Given the description of an element on the screen output the (x, y) to click on. 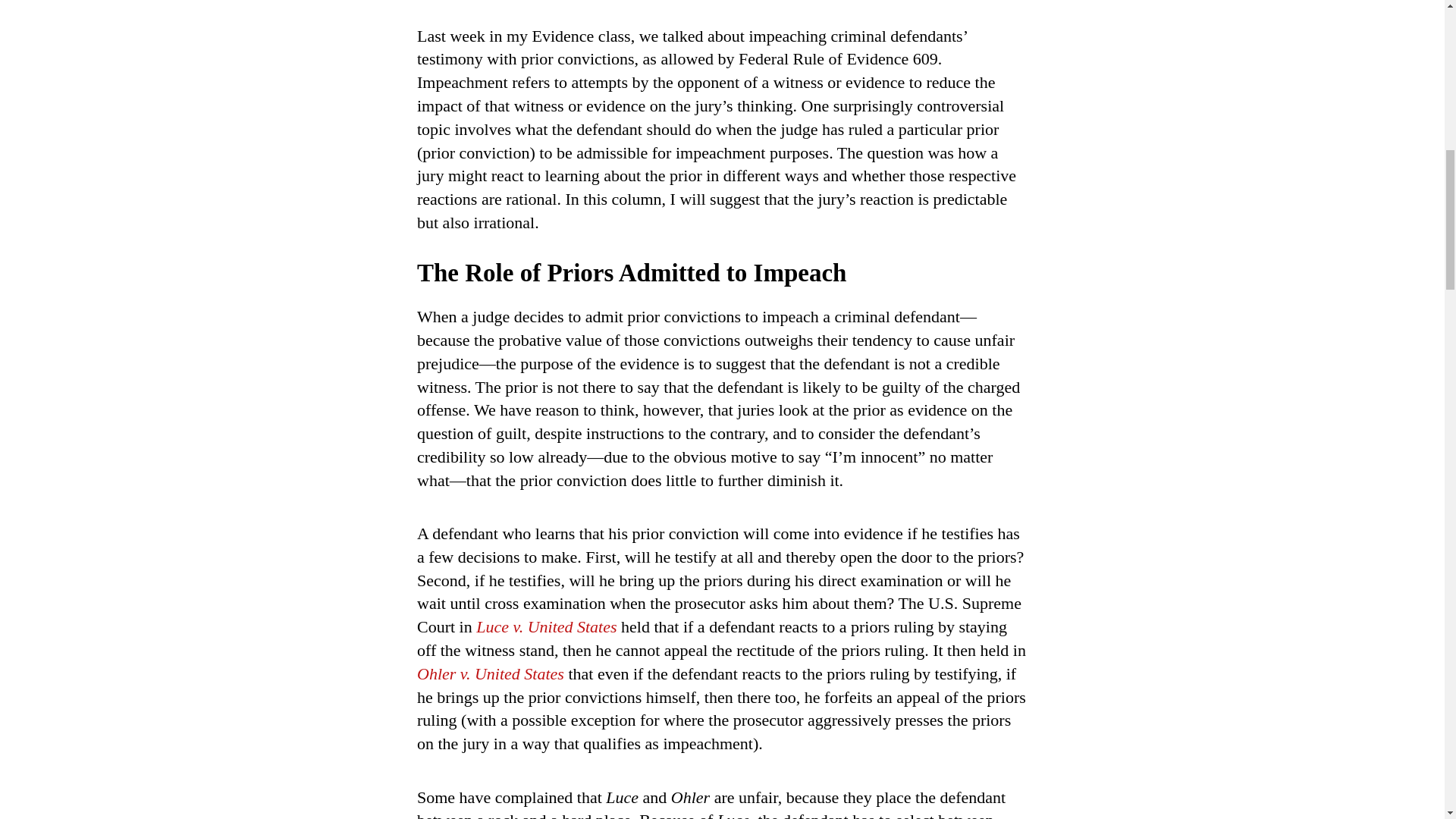
Luce v. United States (545, 626)
Ohler v. United States (490, 673)
